Given the description of an element on the screen output the (x, y) to click on. 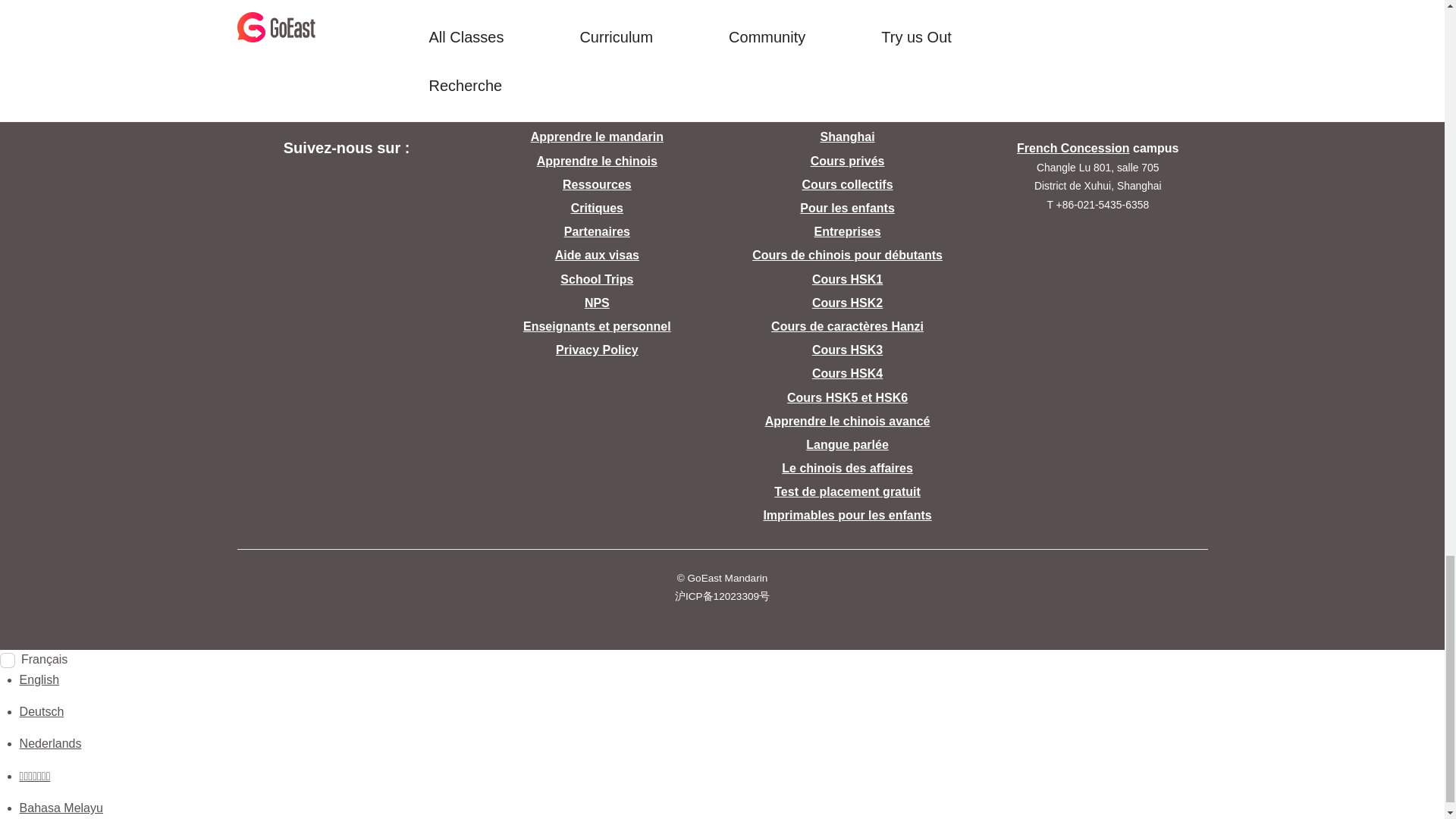
Language switcher : Malay (61, 807)
Language switcher : German (42, 711)
Language switcher : Dutch (50, 743)
on (7, 660)
Language switcher : Thai (35, 775)
Language switcher : English (39, 679)
